Given the description of an element on the screen output the (x, y) to click on. 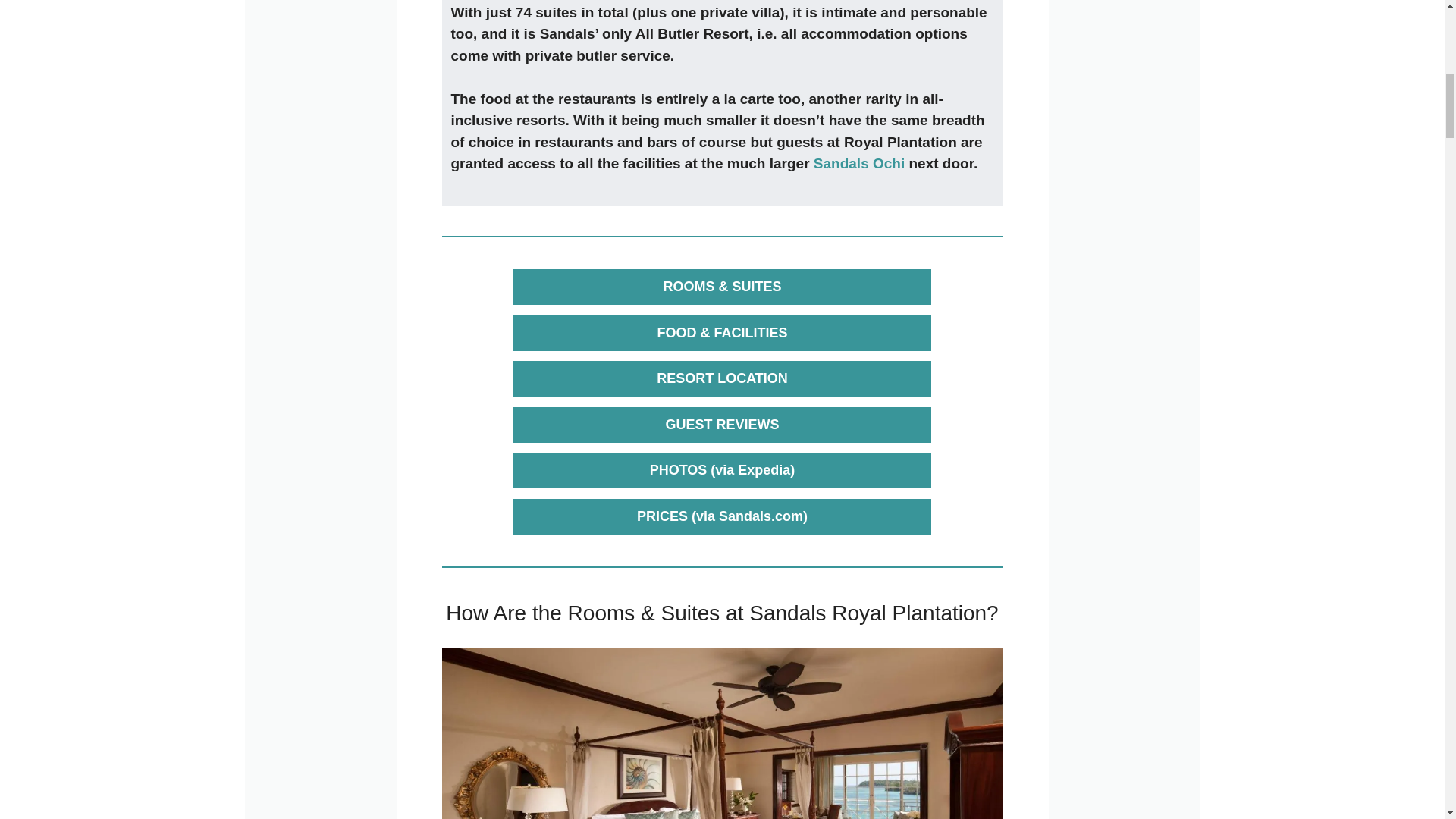
Scroll back to top (1406, 720)
